Given the description of an element on the screen output the (x, y) to click on. 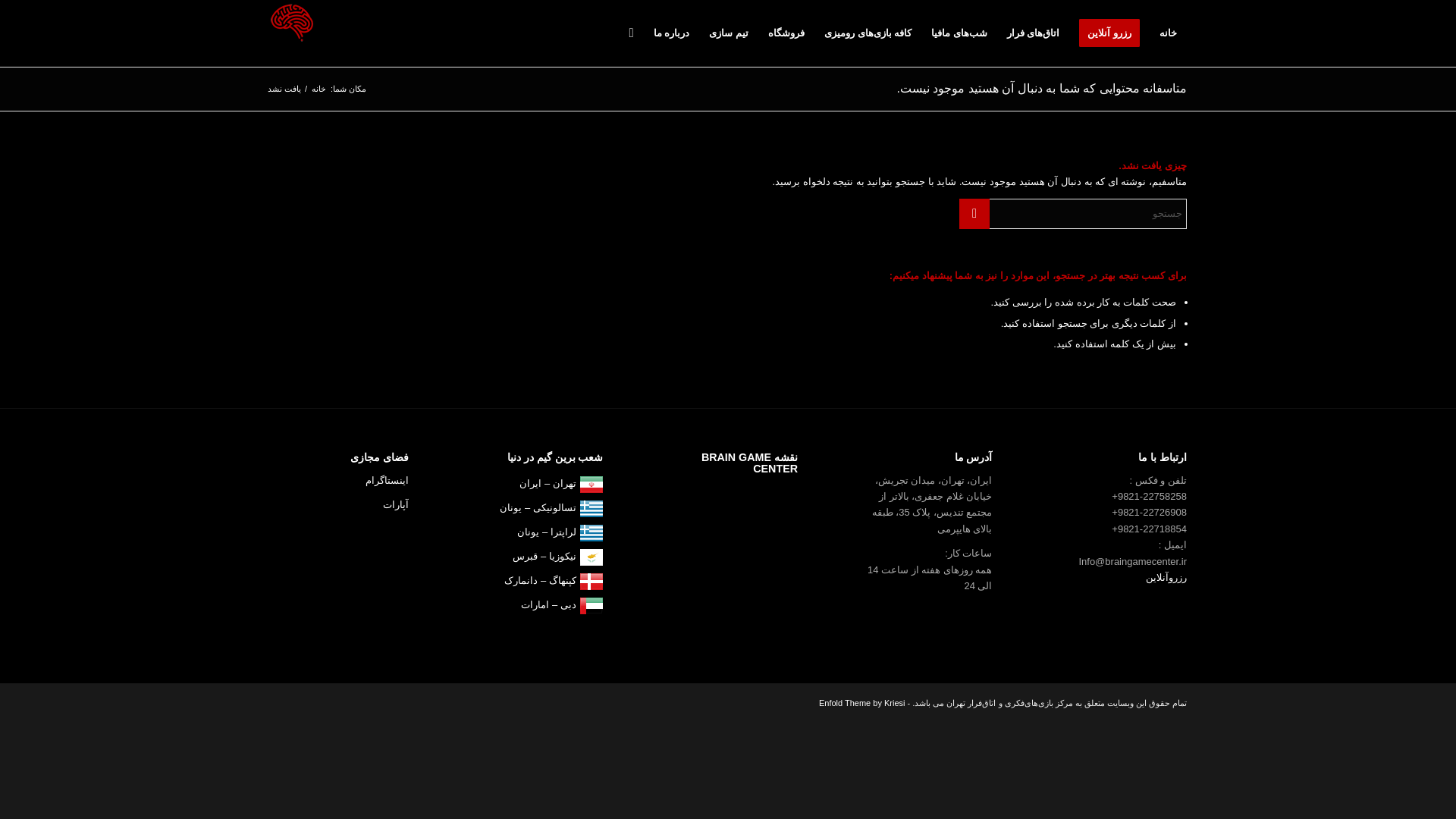
Enfold Theme by Kriesi (861, 702)
Braingame-Favicon (291, 22)
Click to start search (974, 214)
